Given the description of an element on the screen output the (x, y) to click on. 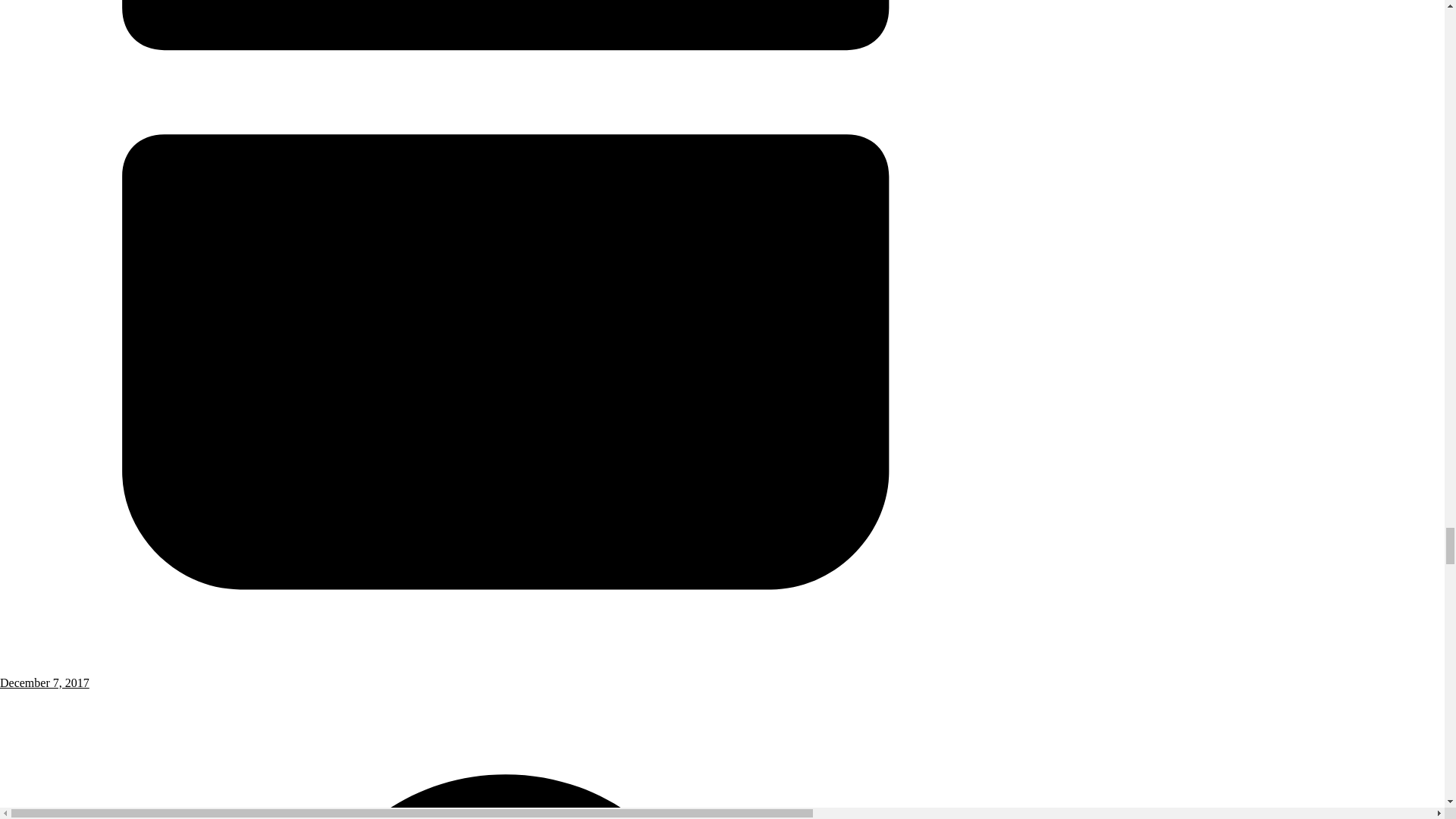
7:55 am (505, 675)
